Given the description of an element on the screen output the (x, y) to click on. 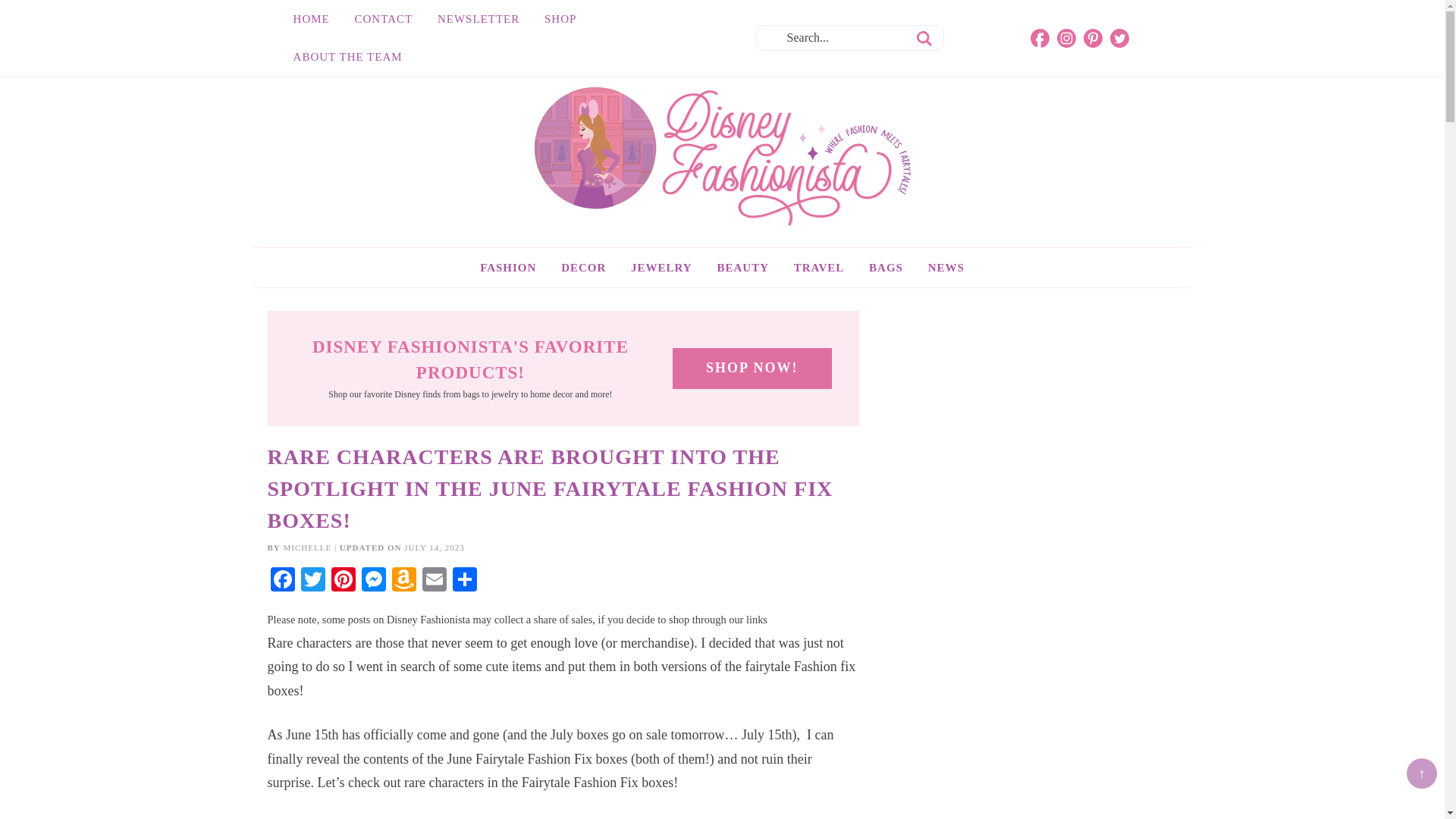
Search (922, 38)
ABOUT THE TEAM (347, 56)
Twitter (312, 581)
Amazon Wish List (403, 581)
Pinterest (342, 581)
CONTACT (383, 18)
Facebook (281, 581)
Email (433, 581)
Messenger (373, 581)
Search (922, 38)
Want to go to Disney? (819, 267)
SHOP (560, 18)
Search (922, 38)
HOME (311, 18)
NEWSLETTER (477, 18)
